Given the description of an element on the screen output the (x, y) to click on. 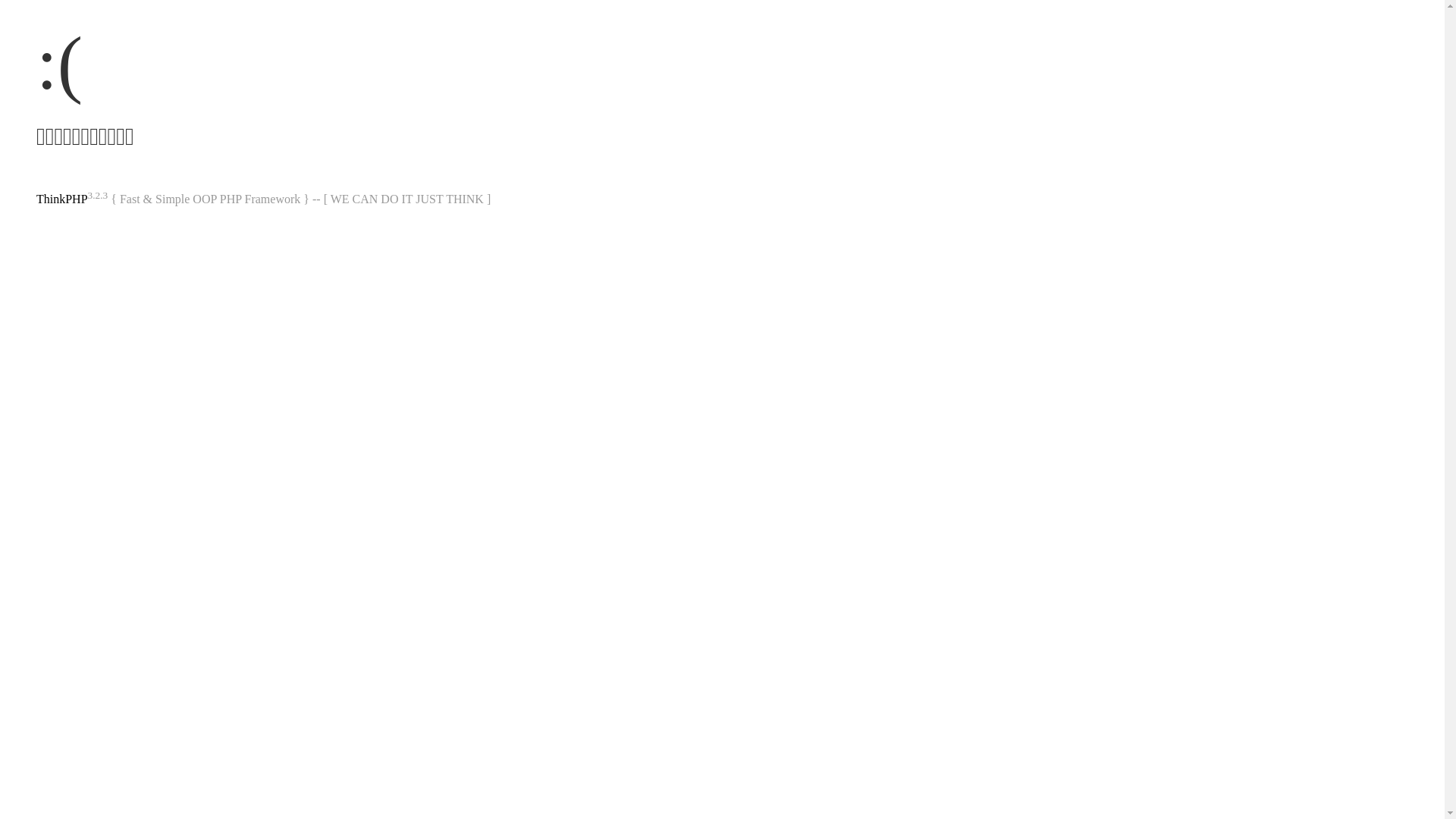
ThinkPHP Element type: text (61, 198)
